Given the description of an element on the screen output the (x, y) to click on. 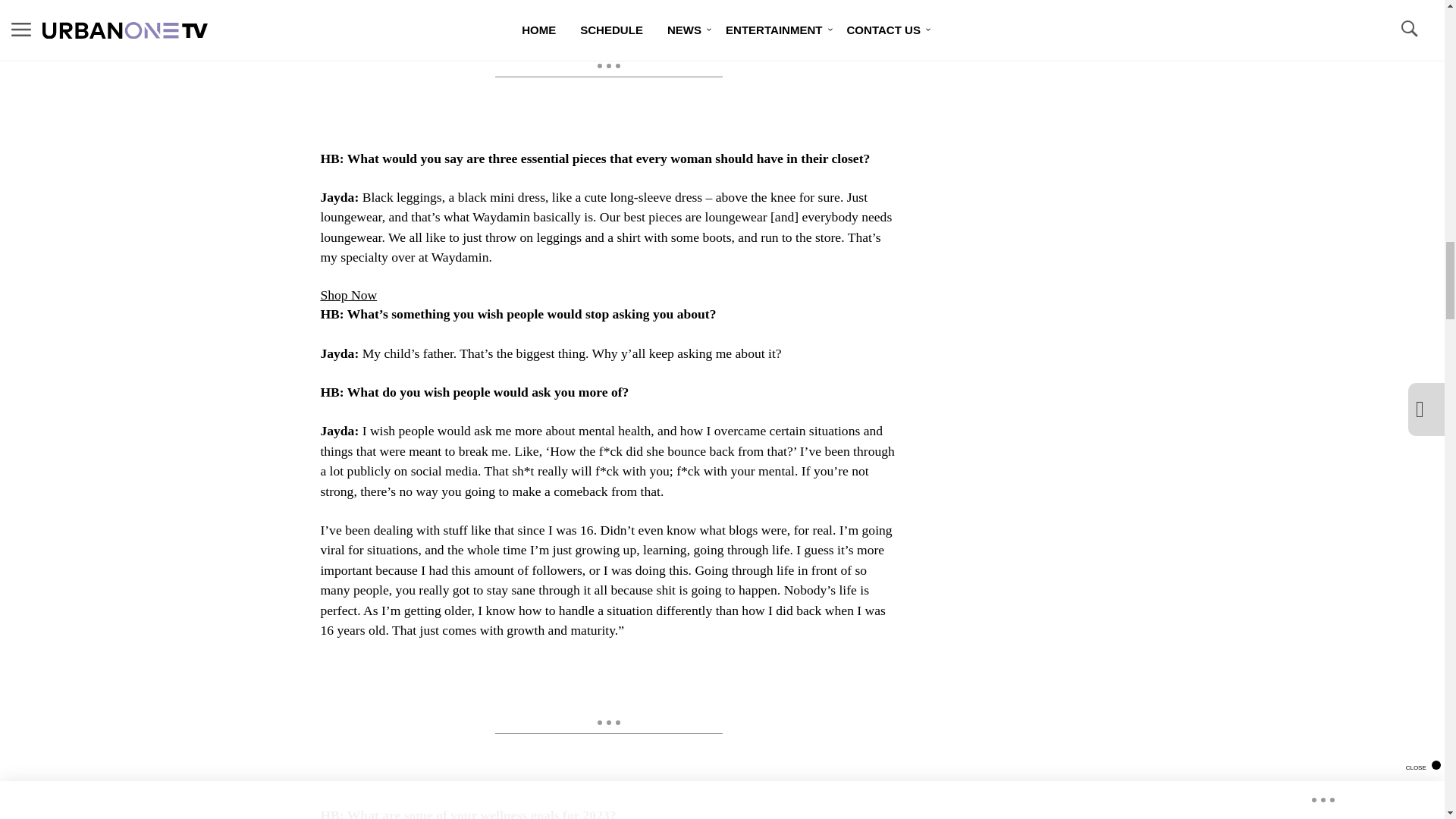
Shop Now (348, 294)
Shop Now (348, 294)
